Given the description of an element on the screen output the (x, y) to click on. 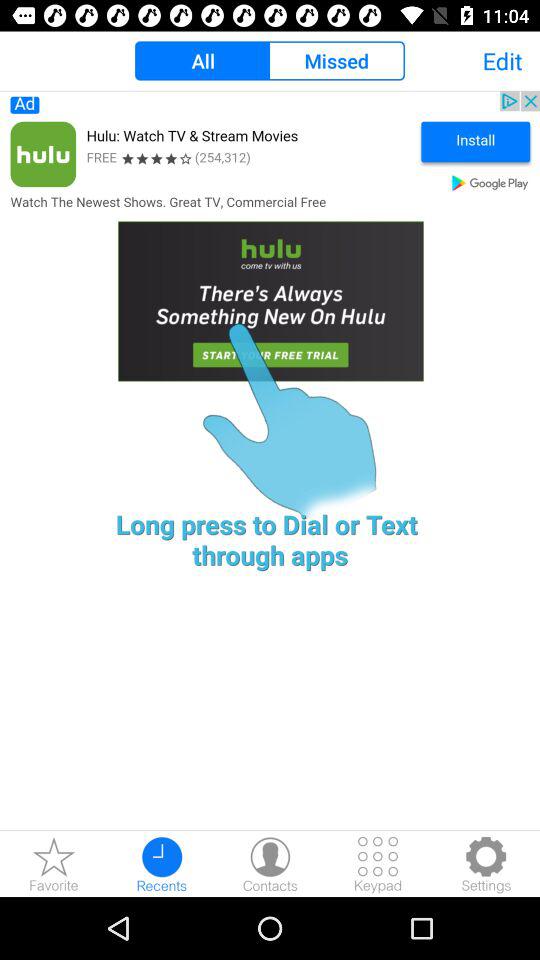
use keypad (377, 864)
